Given the description of an element on the screen output the (x, y) to click on. 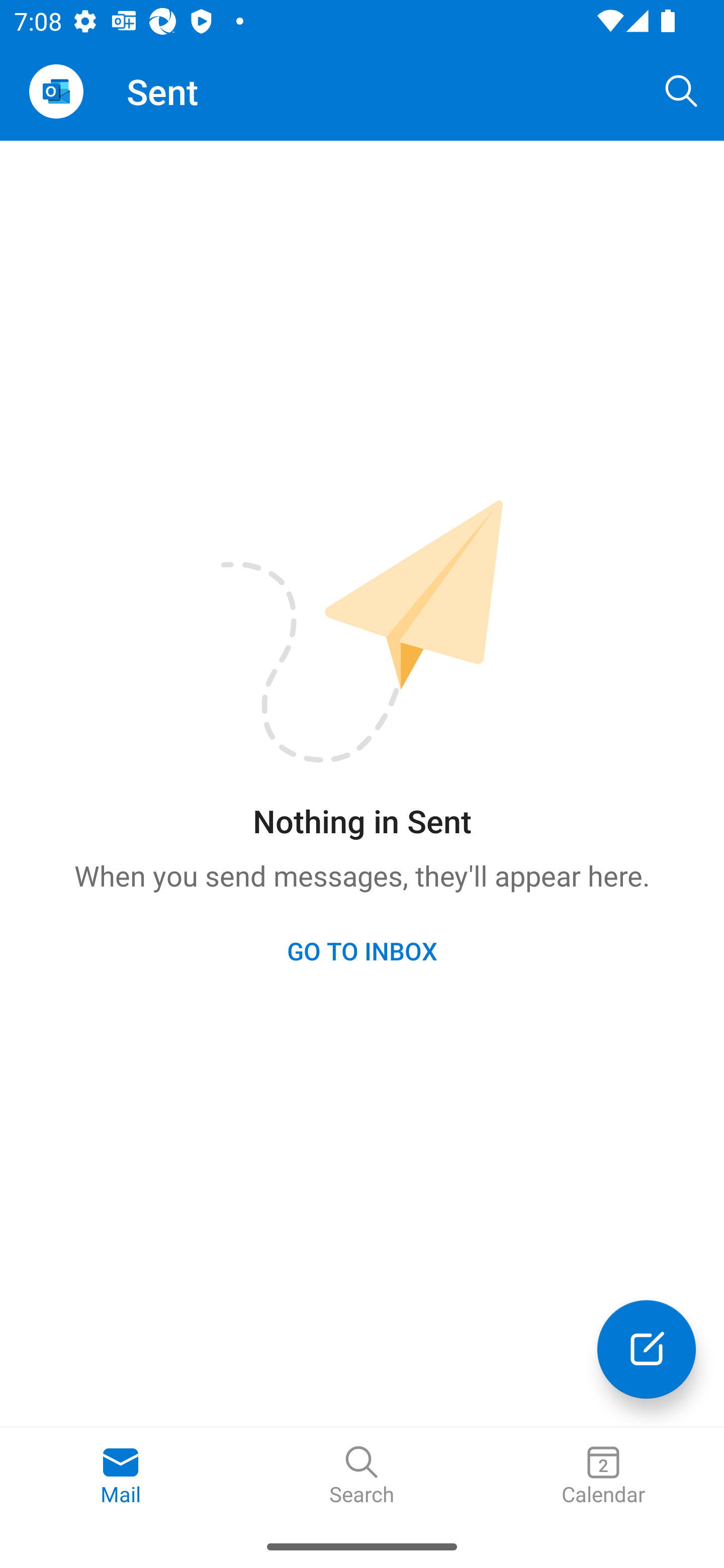
Search (681, 90)
Open Navigation Drawer (55, 91)
GO TO INBOX (362, 949)
Compose (646, 1348)
Search (361, 1475)
Calendar (603, 1475)
